Given the description of an element on the screen output the (x, y) to click on. 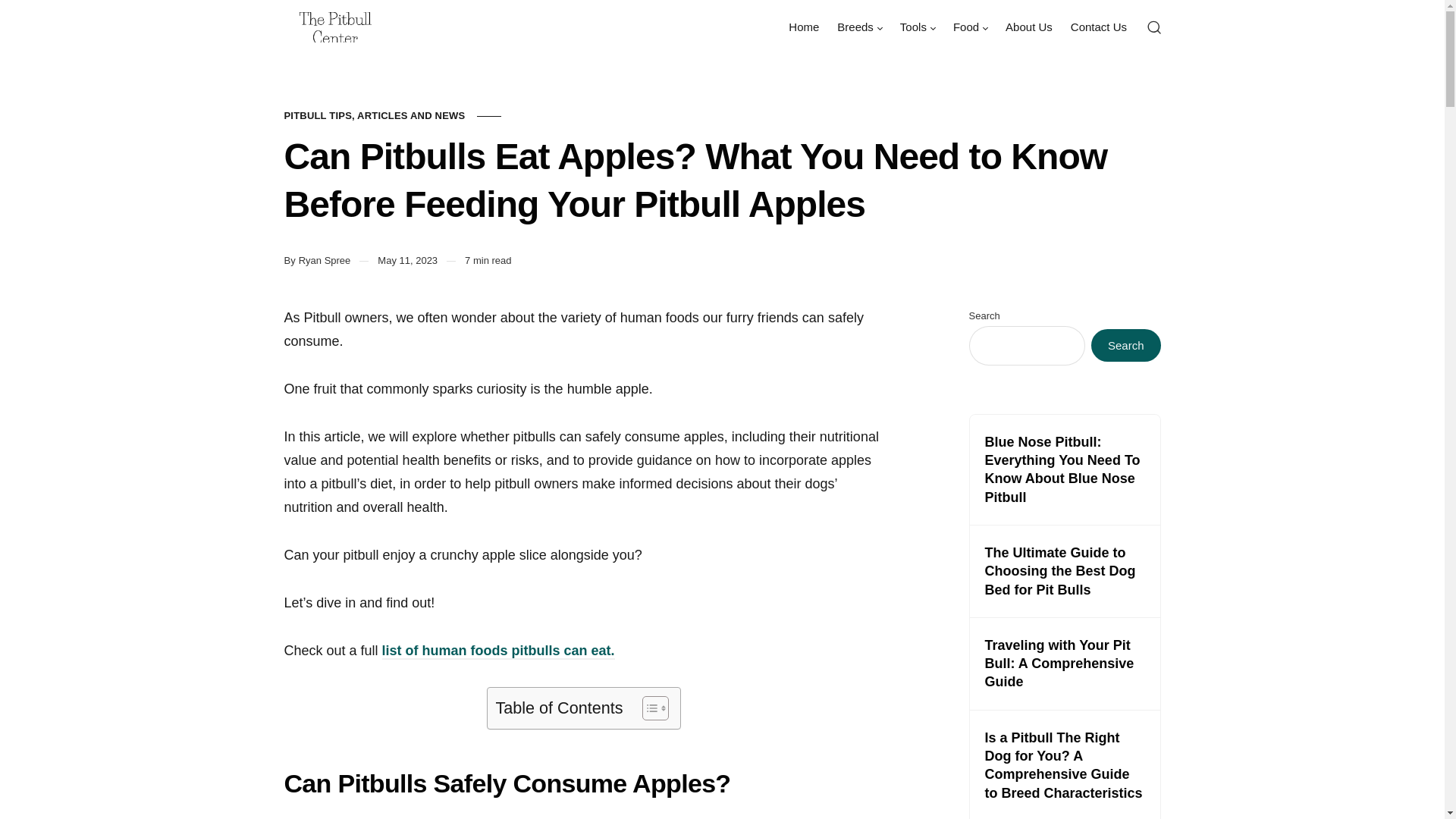
Breeds (859, 27)
Search (1125, 345)
PITBULL TIPS, ARTICLES AND NEWS (374, 115)
Ryan Spree (324, 260)
About Us (1028, 27)
Contact Us (1098, 27)
Tools (916, 27)
list of human foods pitbulls can eat. (497, 651)
Food (969, 27)
